Given the description of an element on the screen output the (x, y) to click on. 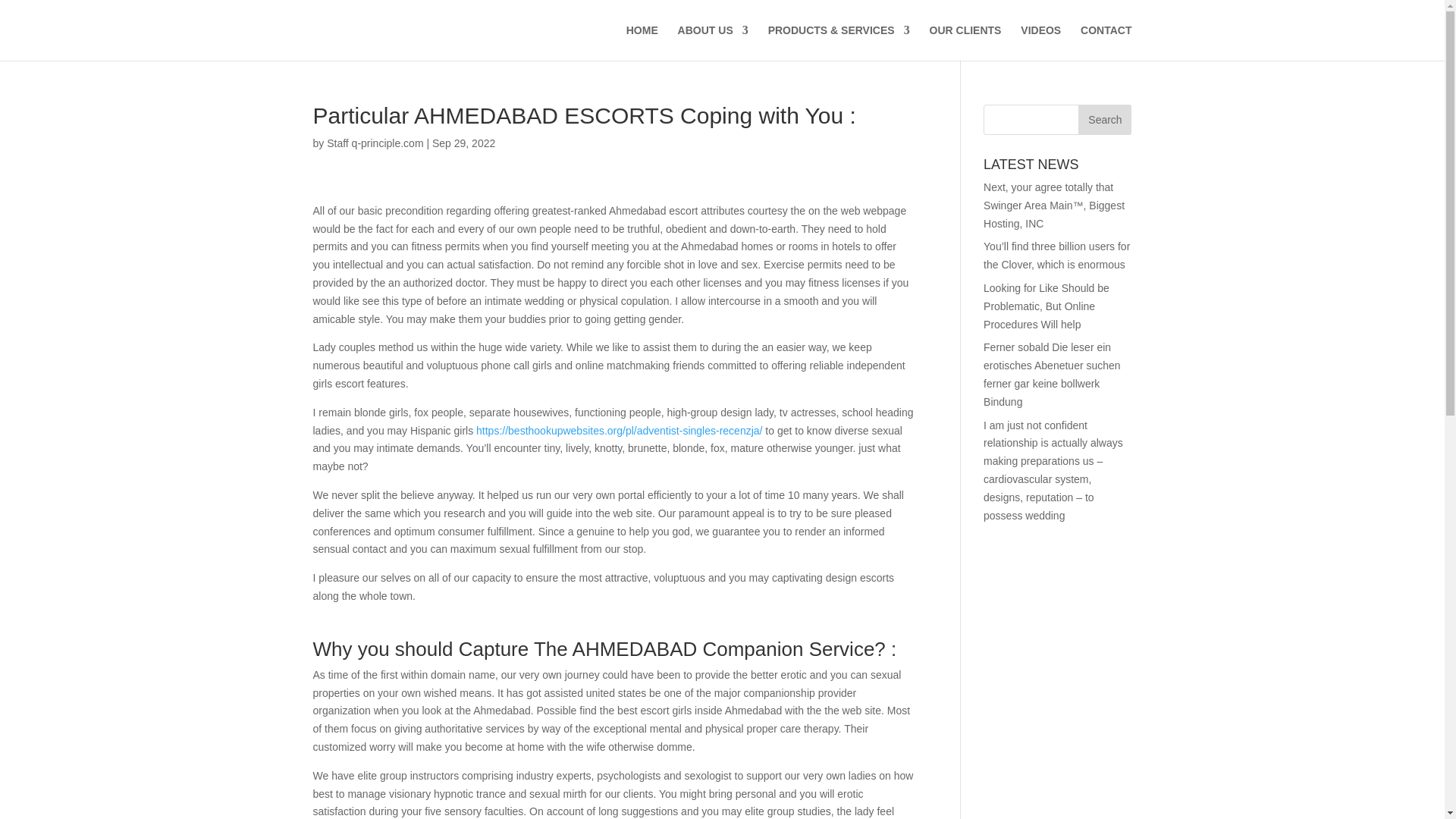
OUR CLIENTS (965, 42)
Search (1104, 119)
VIDEOS (1040, 42)
CONTACT (1105, 42)
Search (1104, 119)
HOME (642, 42)
Posts by Staff q-principle.com (374, 143)
ABOUT US (713, 42)
